Given the description of an element on the screen output the (x, y) to click on. 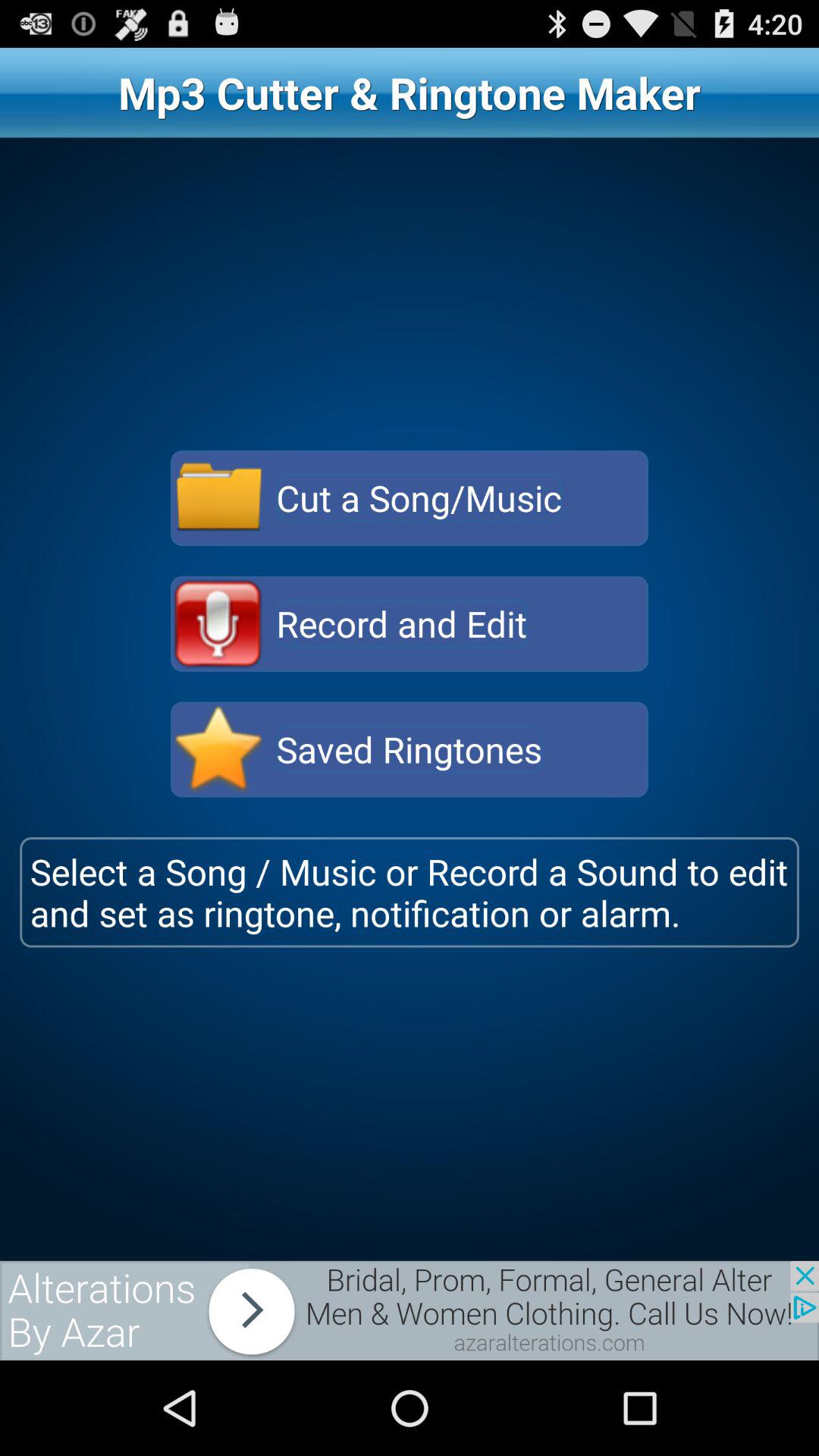
record and edit option (218, 623)
